Given the description of an element on the screen output the (x, y) to click on. 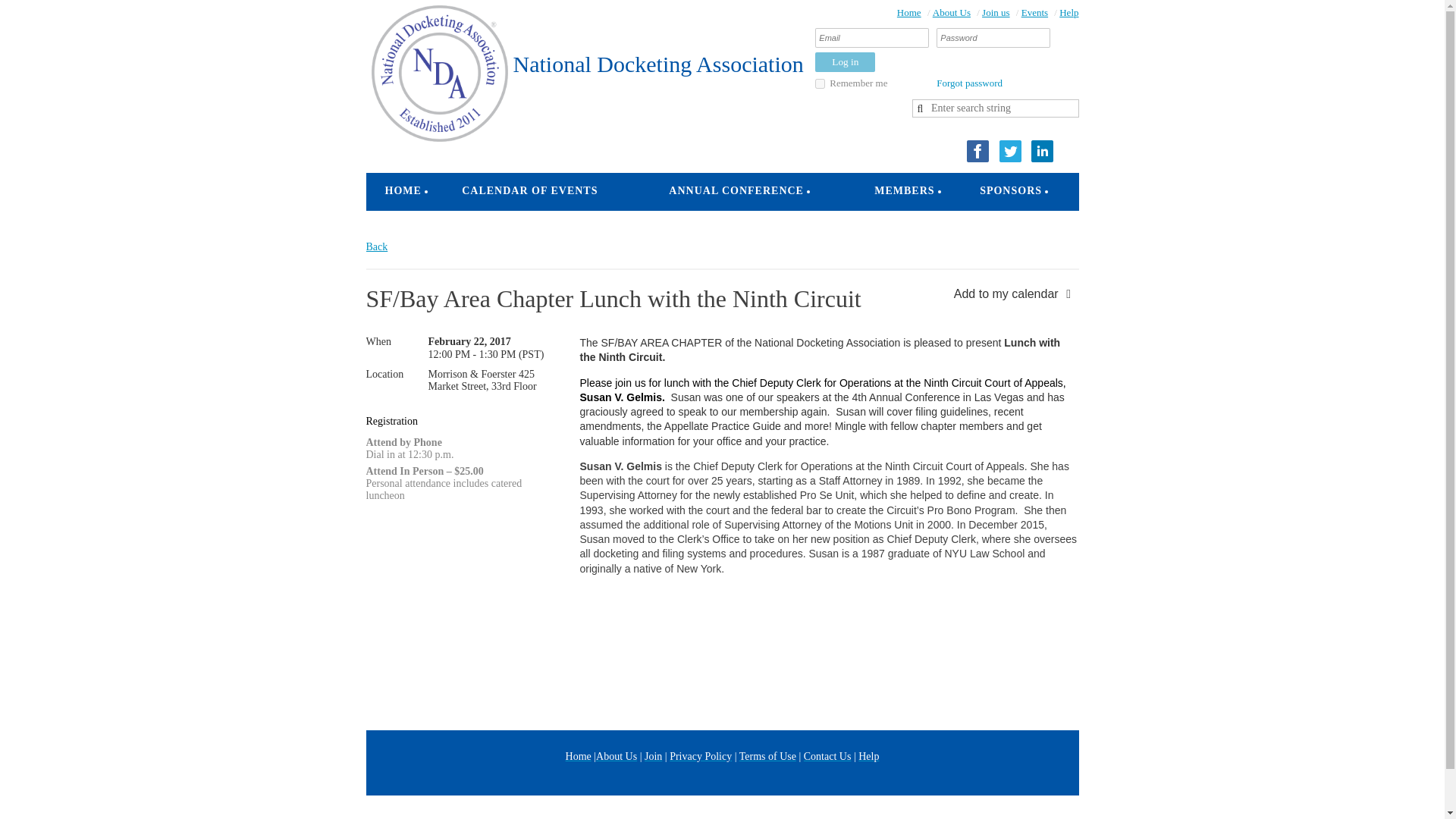
Home (908, 12)
MEMBERS (903, 191)
Join us (995, 12)
Facebook (977, 151)
ANNUAL CONFERENCE (735, 191)
Log in (845, 62)
Calendar of Events (529, 191)
SPONSORS (1011, 191)
Help (1068, 12)
About Us (952, 12)
on (820, 83)
Log in (845, 62)
Annual Conference (735, 191)
Join us (995, 12)
Help (1068, 12)
